Given the description of an element on the screen output the (x, y) to click on. 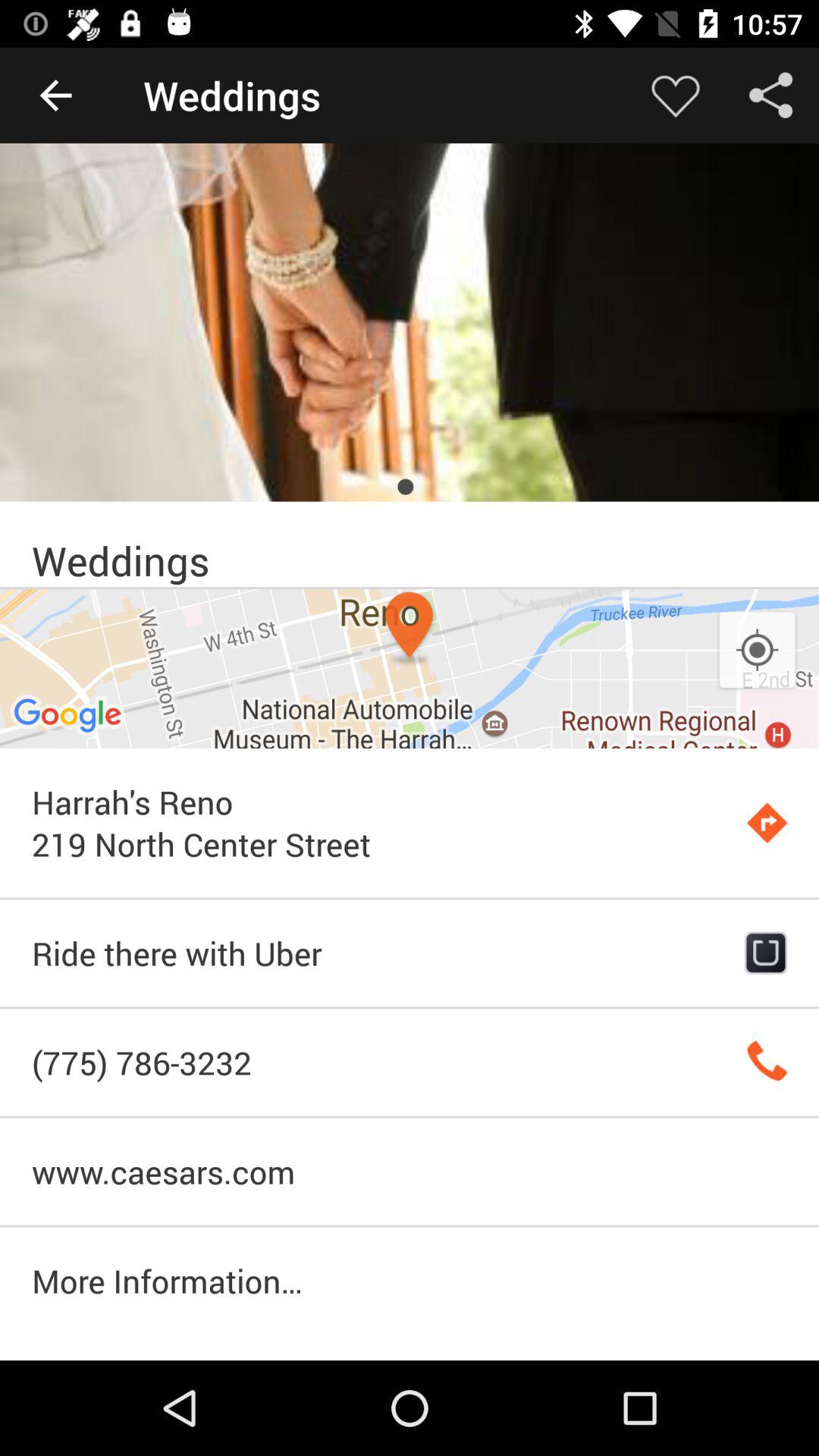
choose item above the harrah s reno item (757, 650)
